Given the description of an element on the screen output the (x, y) to click on. 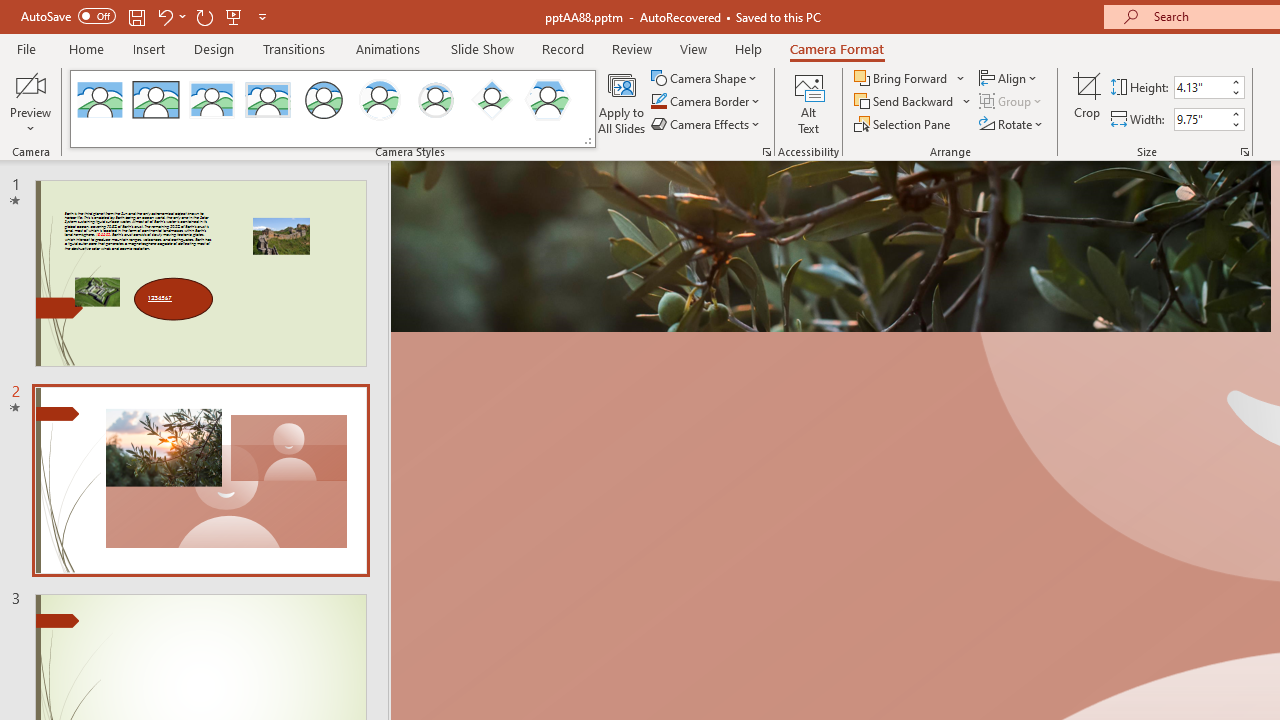
Bring Forward (902, 78)
Size and Position... (1244, 151)
Align (1009, 78)
Enable Camera Preview (30, 84)
Rotate (1012, 124)
Crop (1087, 102)
